Given the description of an element on the screen output the (x, y) to click on. 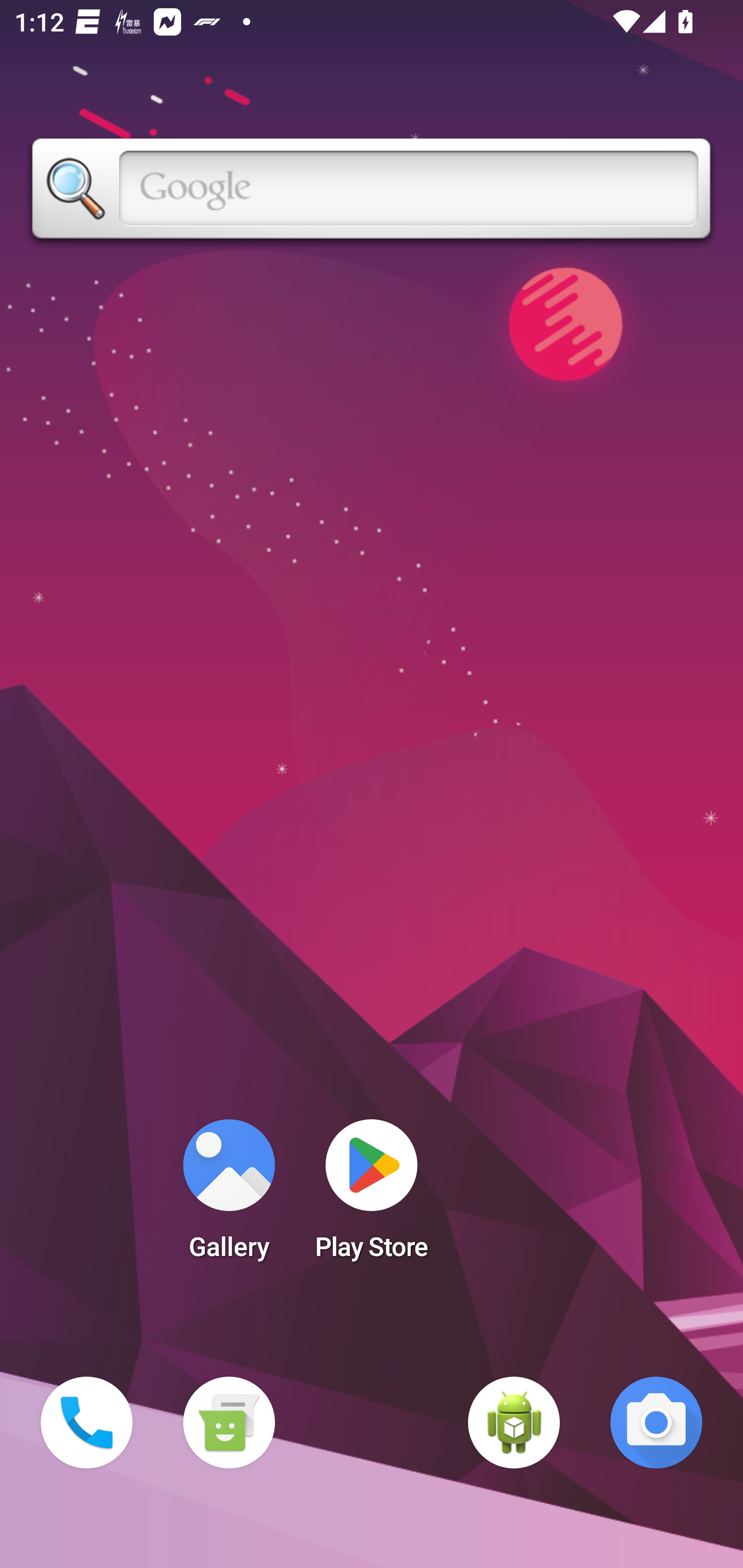
Gallery (228, 1195)
Play Store (371, 1195)
Phone (86, 1422)
Messaging (228, 1422)
WebView Browser Tester (513, 1422)
Camera (656, 1422)
